Given the description of an element on the screen output the (x, y) to click on. 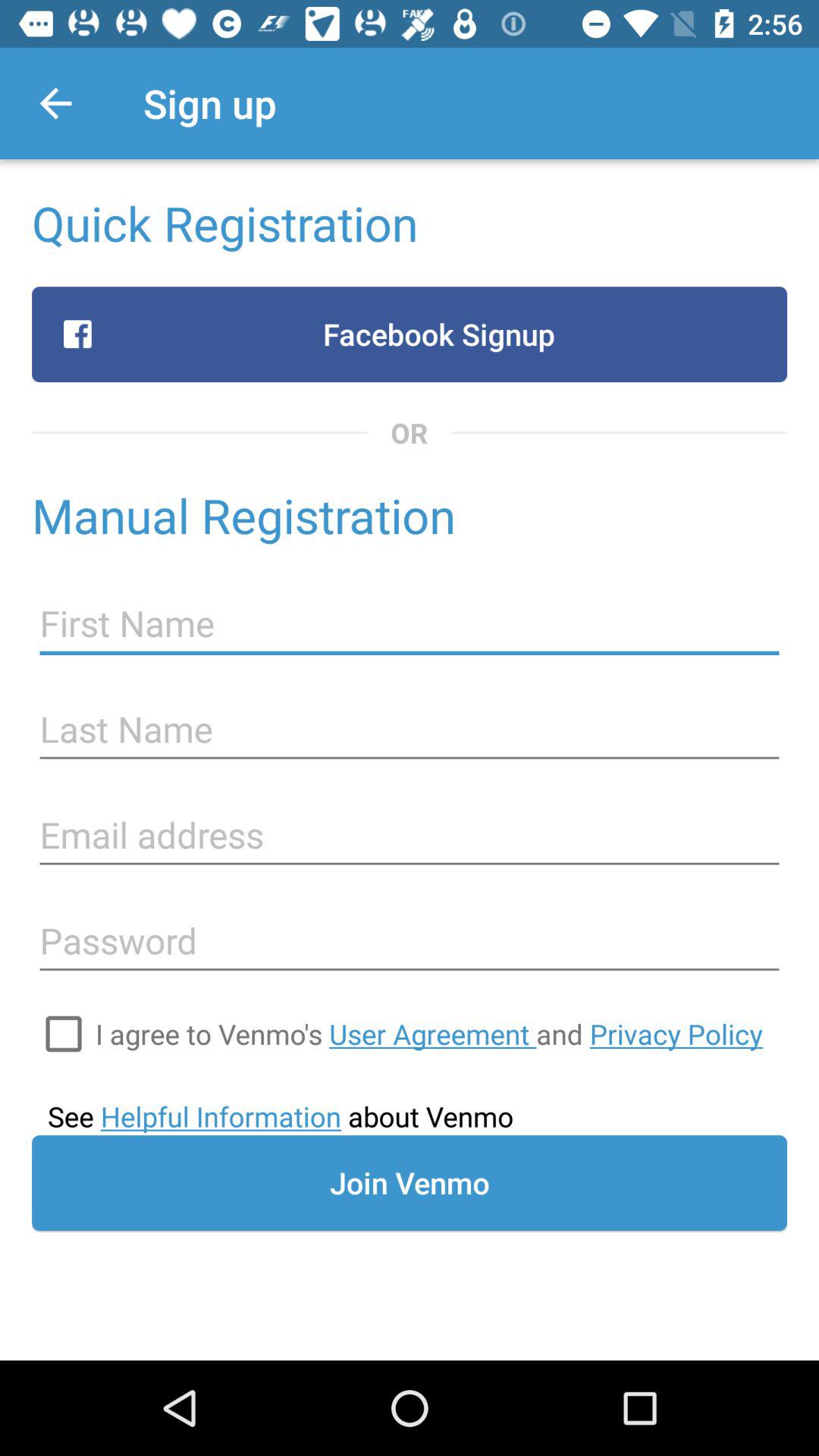
enter email address to register (409, 835)
